Given the description of an element on the screen output the (x, y) to click on. 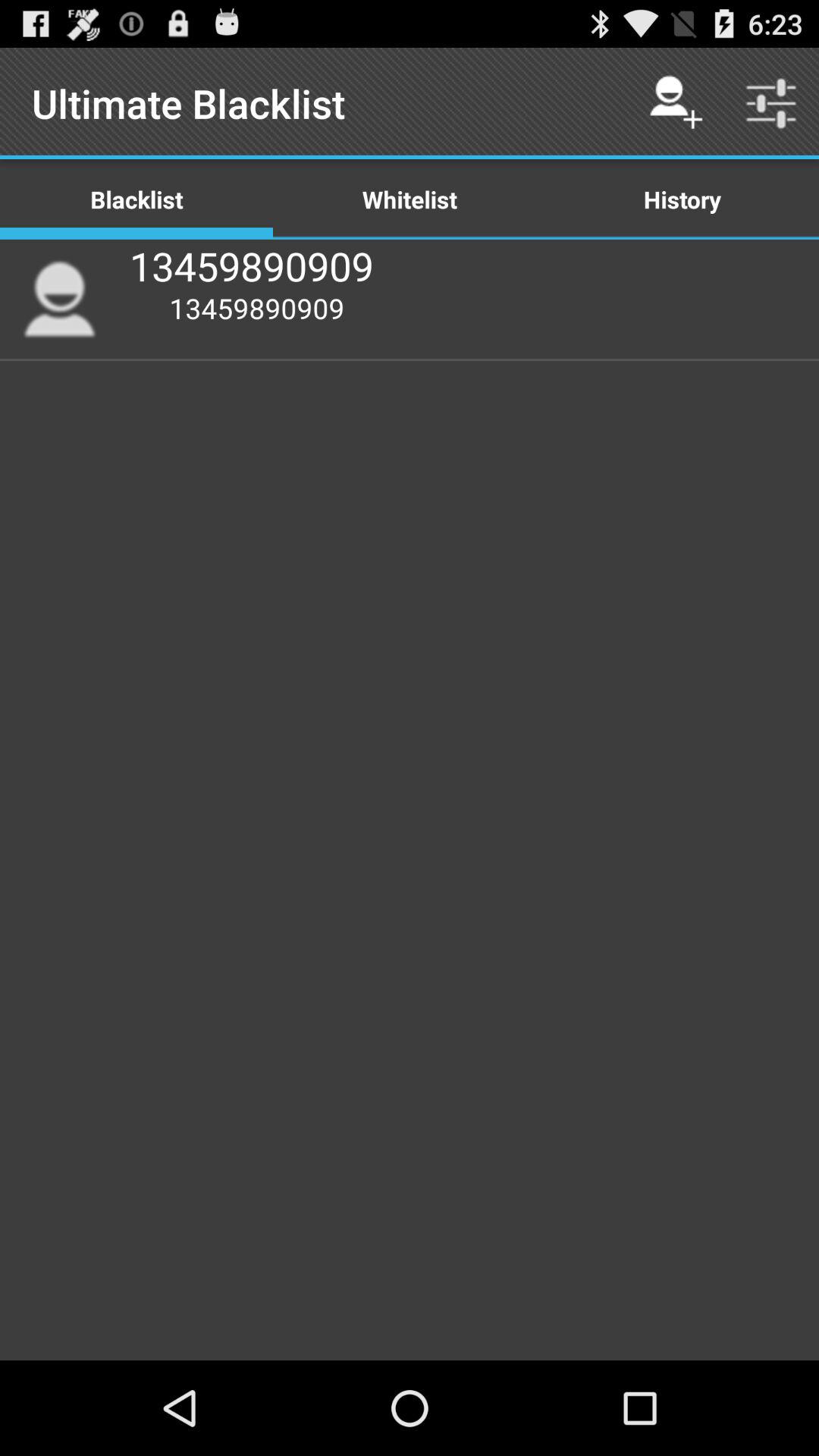
tap the whitelist item (409, 199)
